Given the description of an element on the screen output the (x, y) to click on. 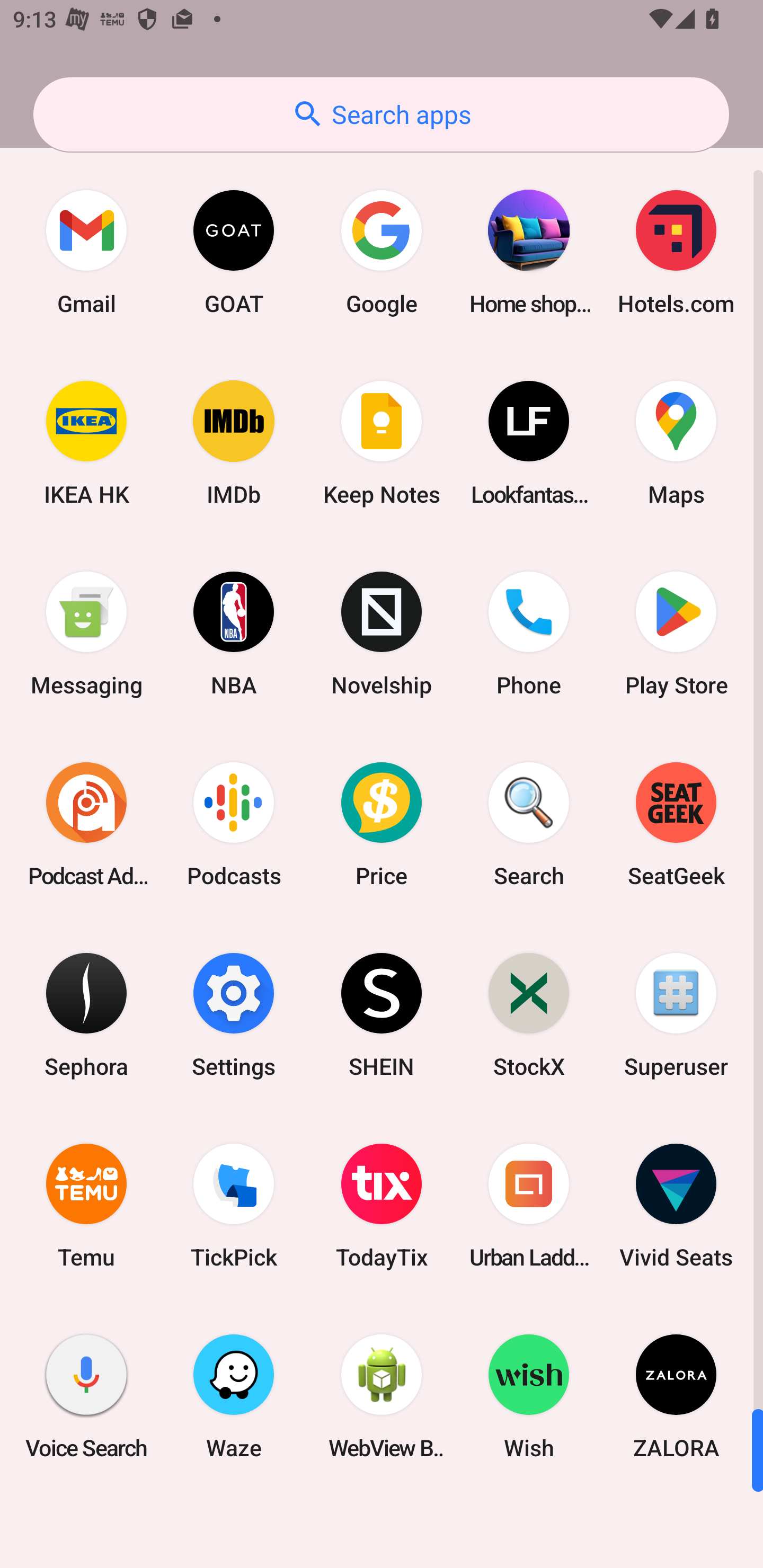
  Search apps (381, 114)
Gmail (86, 252)
GOAT (233, 252)
Google (381, 252)
Home shopping (528, 252)
Hotels.com (676, 252)
IKEA HK (86, 442)
IMDb (233, 442)
Keep Notes (381, 442)
Lookfantastic (528, 442)
Maps (676, 442)
Messaging (86, 633)
NBA (233, 633)
Novelship (381, 633)
Phone (528, 633)
Play Store (676, 633)
Podcast Addict (86, 823)
Podcasts (233, 823)
Price (381, 823)
Search (528, 823)
SeatGeek (676, 823)
Sephora (86, 1014)
Settings (233, 1014)
SHEIN (381, 1014)
StockX (528, 1014)
Superuser (676, 1014)
Temu (86, 1205)
TickPick (233, 1205)
TodayTix (381, 1205)
Urban Ladder (528, 1205)
Vivid Seats (676, 1205)
Voice Search (86, 1396)
Waze (233, 1396)
WebView Browser Tester (381, 1396)
Wish (528, 1396)
ZALORA (676, 1396)
